Given the description of an element on the screen output the (x, y) to click on. 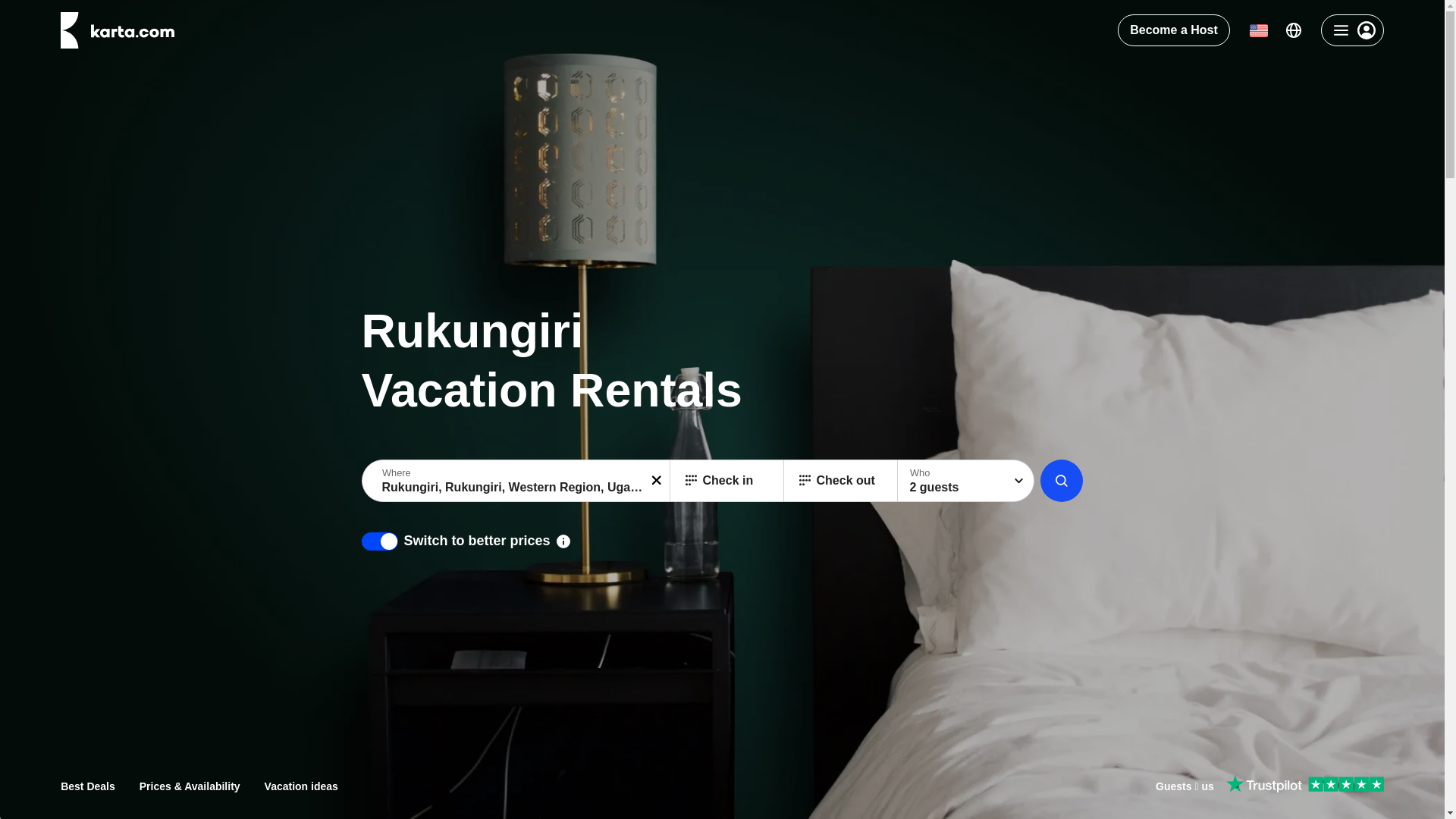
Vacation ideas (300, 785)
2 guests (966, 480)
Rukungiri, Rukungiri, Western Region, Uganda (516, 480)
2 guests (966, 480)
Become a Host (1174, 29)
Rukungiri, Rukungiri, Western Region, Uganda (516, 480)
Best Deals (88, 785)
